Given the description of an element on the screen output the (x, y) to click on. 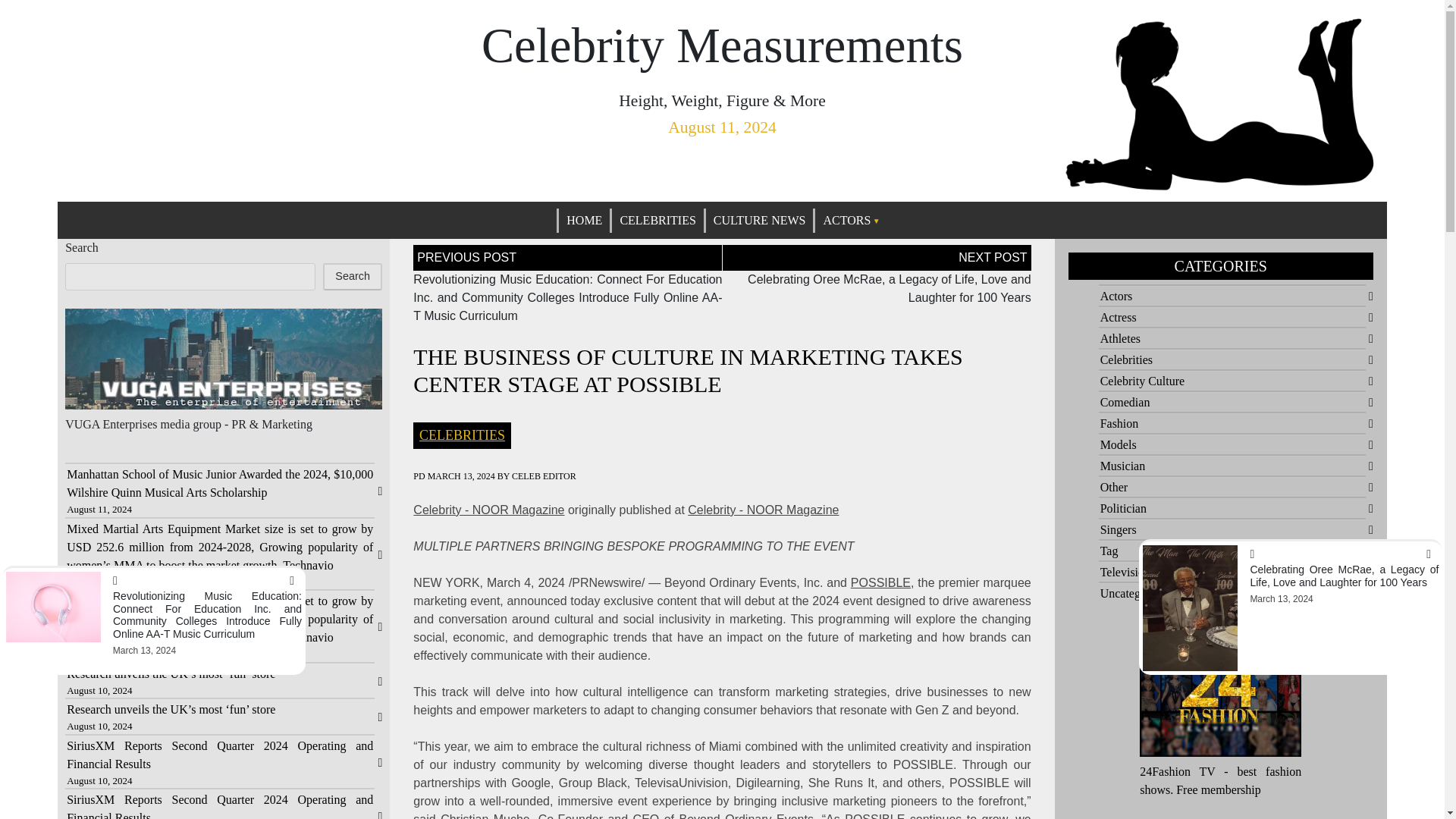
CULTURE NEWS (759, 220)
VUGA Enterprises (111, 423)
Search (352, 276)
CELEBRITIES (657, 220)
HOME (584, 220)
Celebrity Measurements (721, 45)
